Given the description of an element on the screen output the (x, y) to click on. 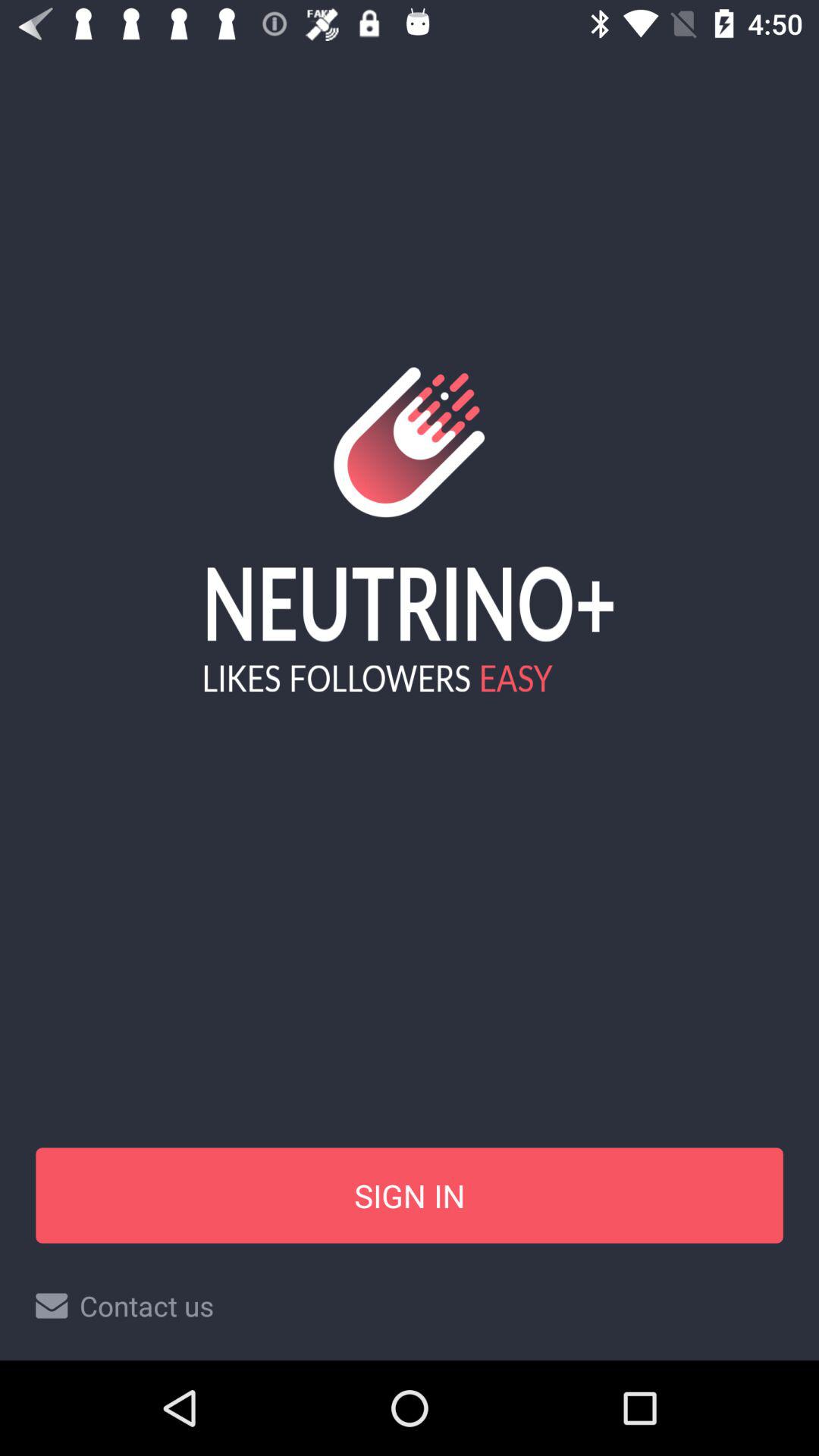
flip until contact us (409, 1305)
